Given the description of an element on the screen output the (x, y) to click on. 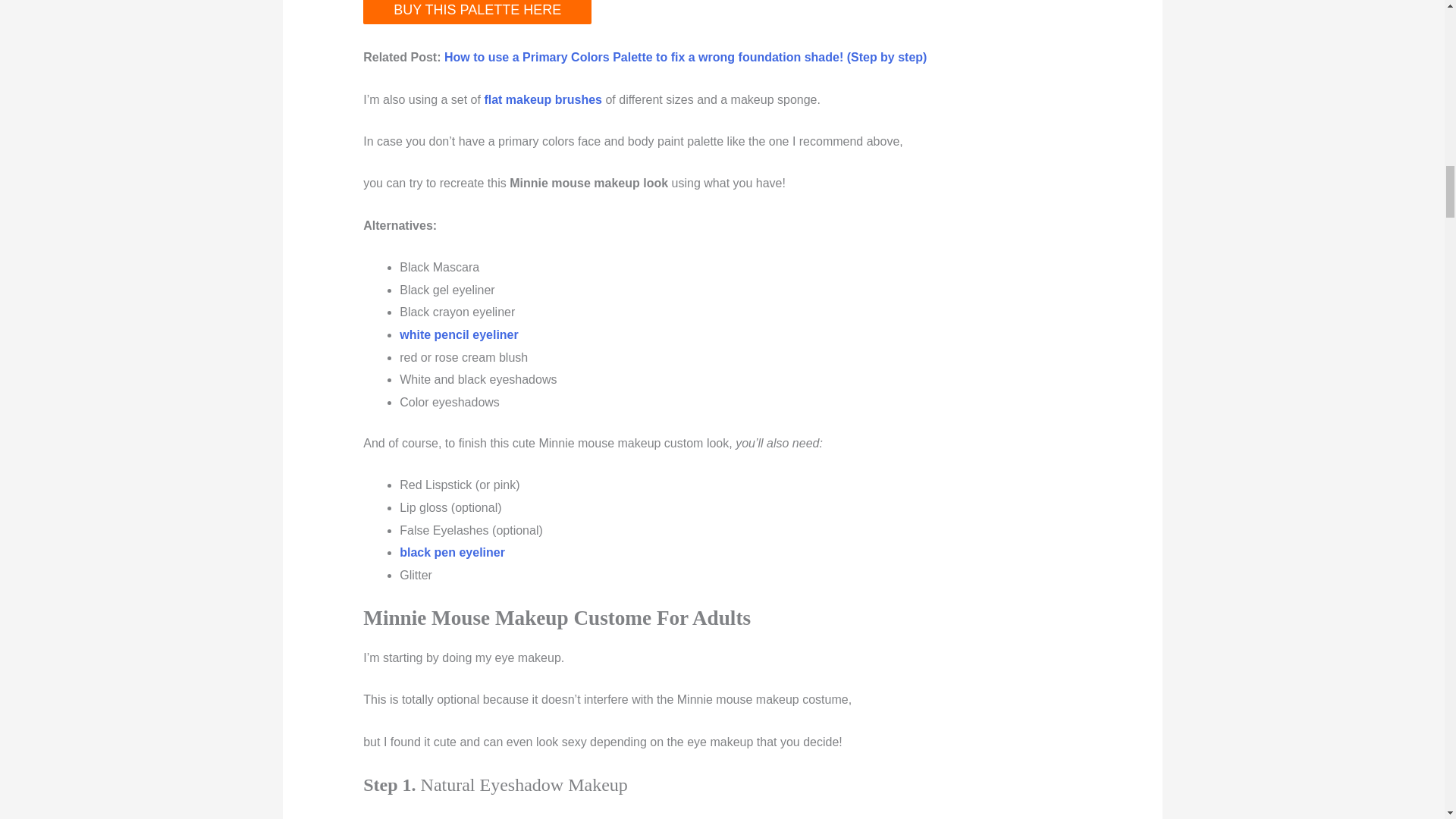
black pen eyeliner (451, 552)
BUY THIS PALETTE HERE (476, 12)
flat makeup brushes (542, 99)
white pencil eyeliner (458, 334)
